Given the description of an element on the screen output the (x, y) to click on. 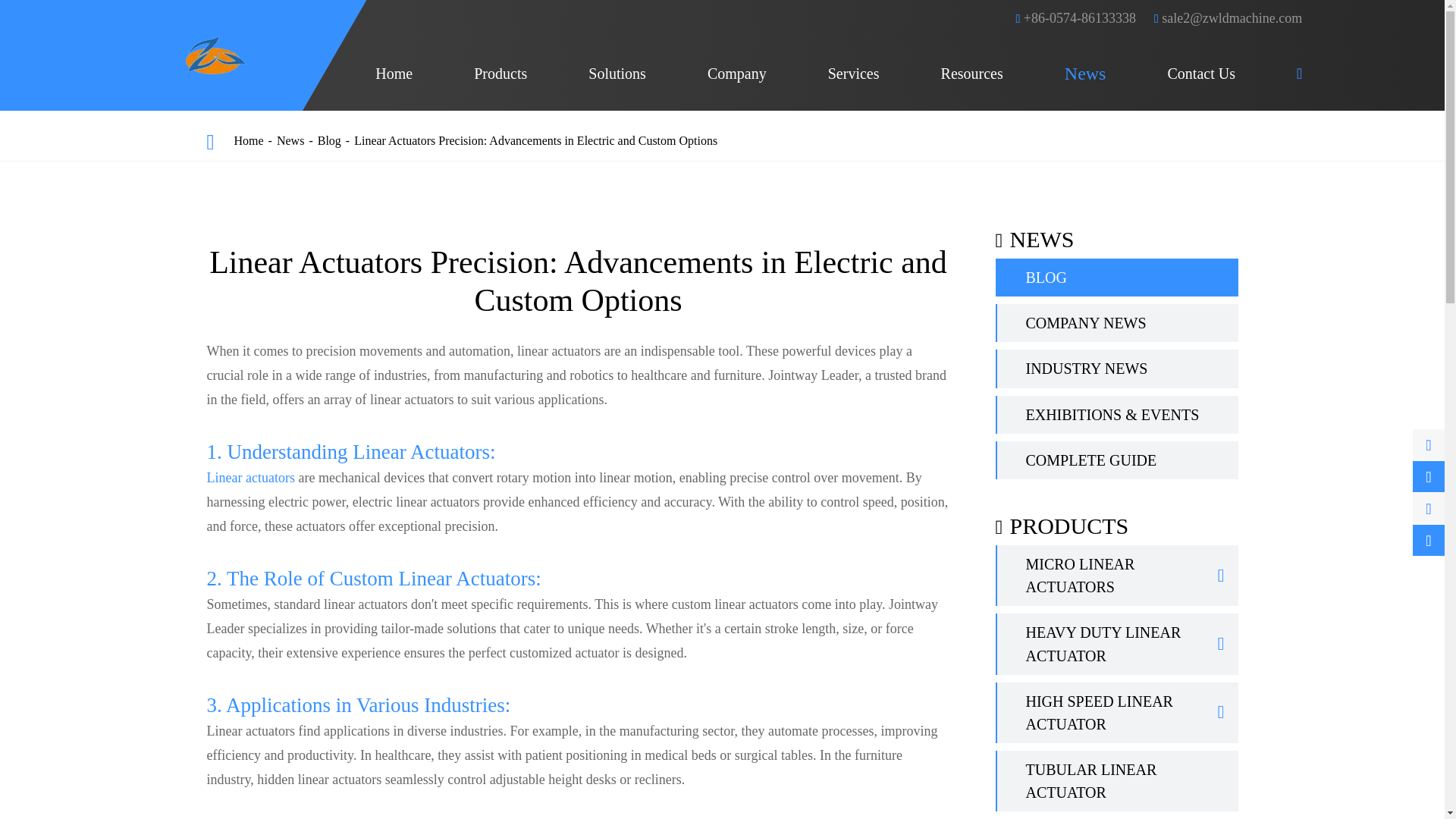
Home (393, 73)
Ningbo Beilun Jointway Leader Machinery Co.,Ltd. (215, 55)
Products (500, 73)
